Given the description of an element on the screen output the (x, y) to click on. 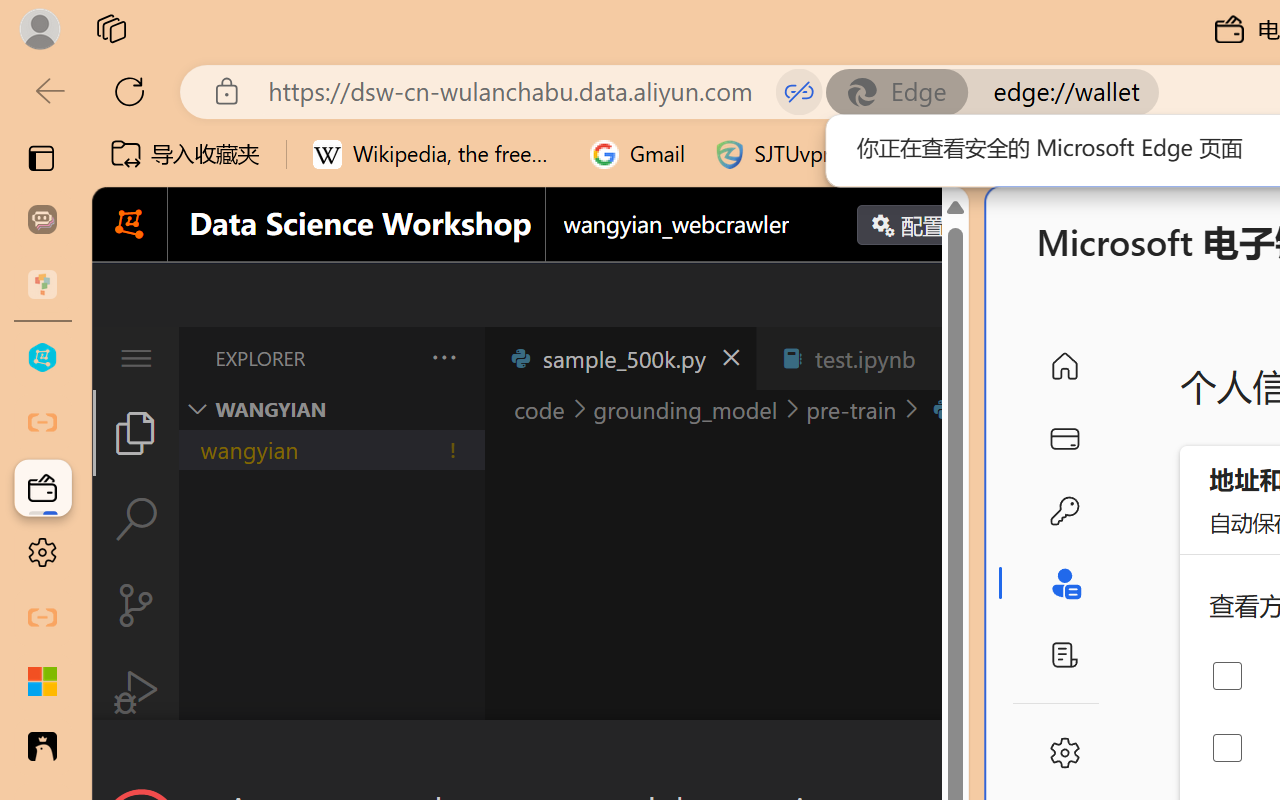
Explorer (Ctrl+Shift+E) (135, 432)
test.ipynb (864, 358)
Search (Ctrl+Shift+F) (135, 519)
Explorer actions (391, 358)
Explorer Section: wangyian (331, 409)
